Given the description of an element on the screen output the (x, y) to click on. 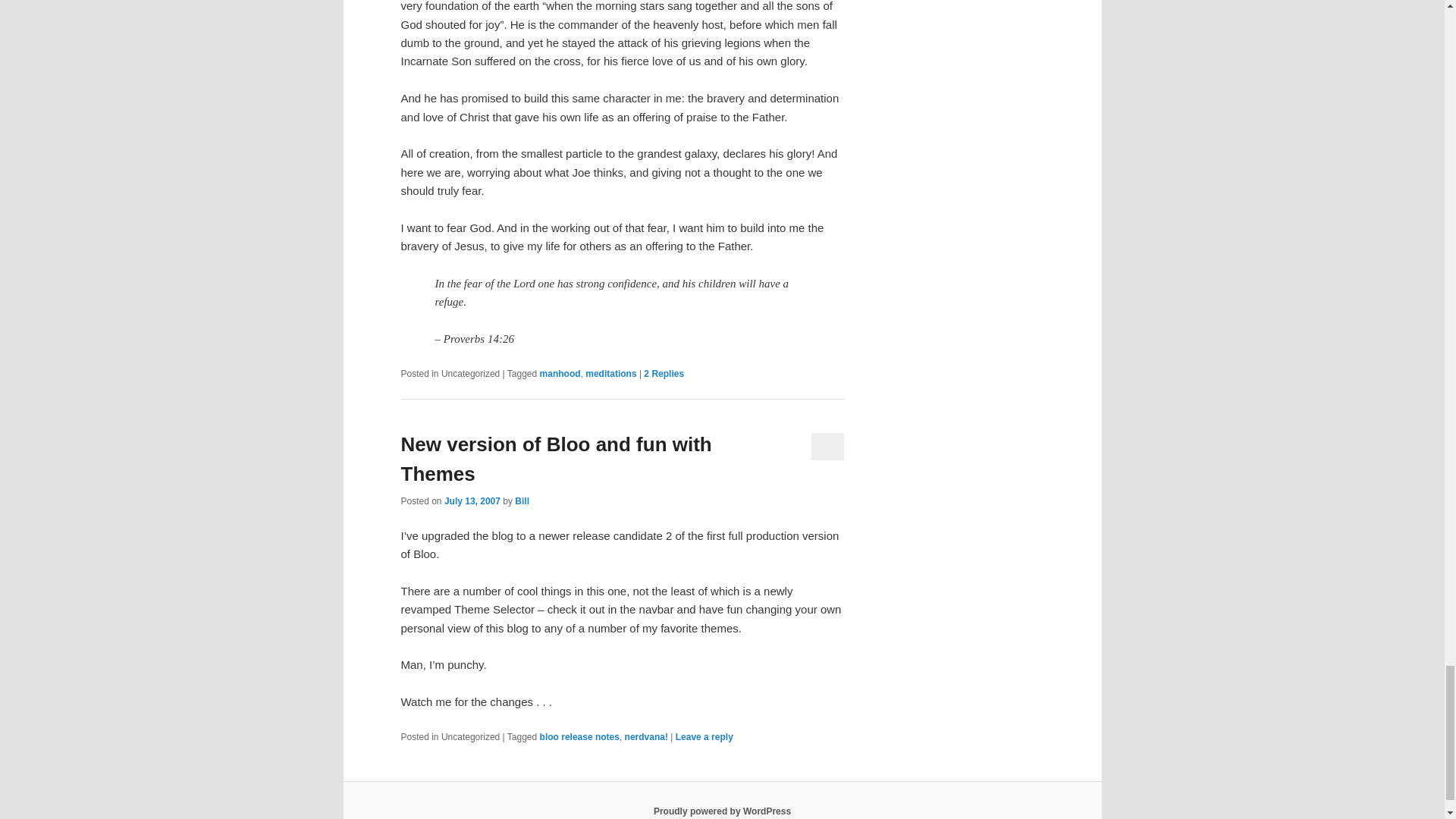
Semantic Personal Publishing Platform (721, 810)
11:37 pm (472, 501)
2 Replies (663, 373)
View all posts by Bill (522, 501)
July 13, 2007 (472, 501)
manhood (560, 373)
meditations (610, 373)
New version of Bloo and fun with Themes (555, 459)
